Given the description of an element on the screen output the (x, y) to click on. 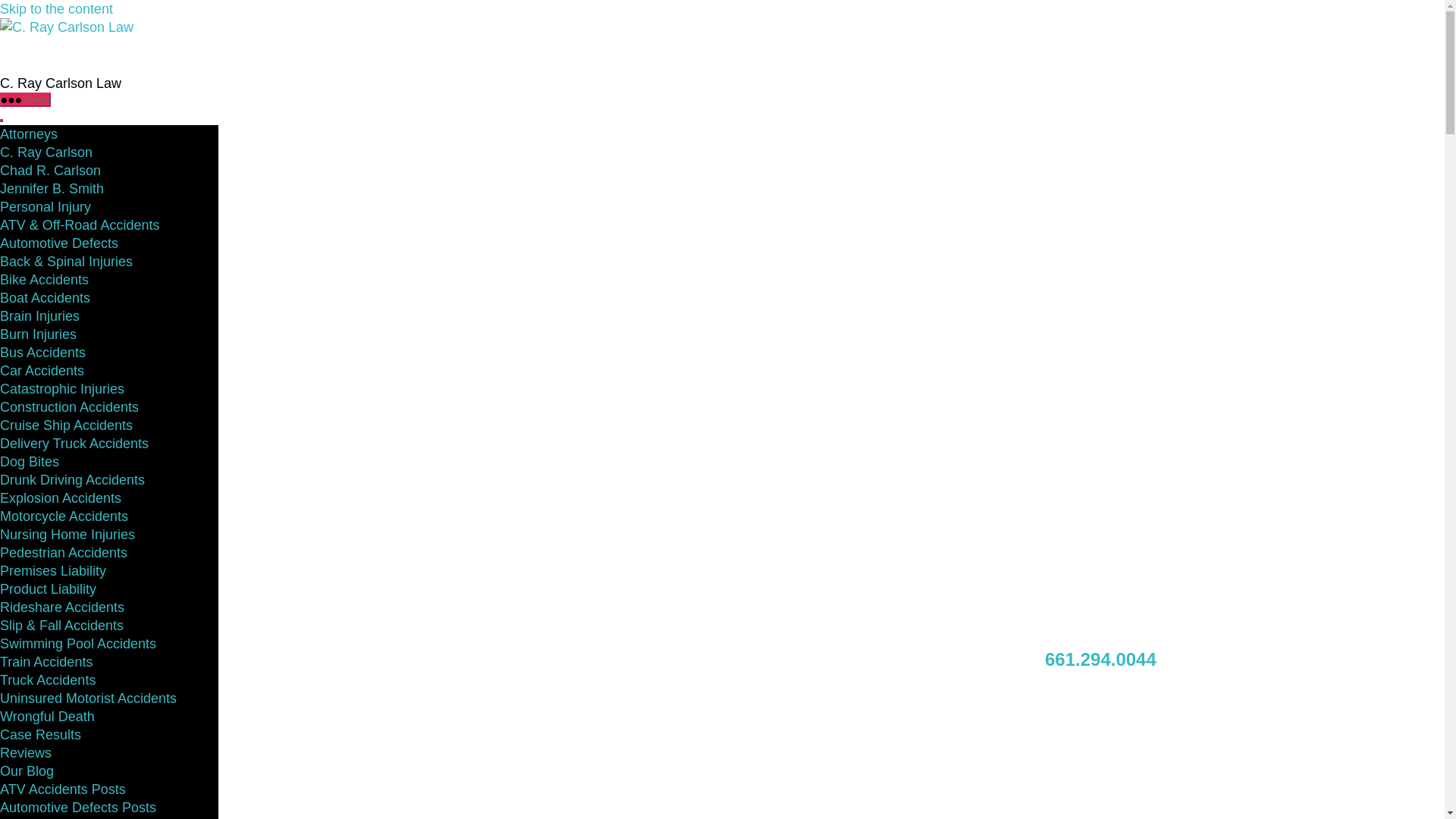
Drunk Driving Accidents (72, 479)
Premises Liability (53, 570)
Attorneys (29, 133)
Bike Accidents (44, 279)
Our Blog (26, 770)
Dog Bites (29, 461)
Truck Accidents (48, 679)
Menu (25, 99)
Product Liability (48, 589)
Automotive Defects (58, 242)
